Given the description of an element on the screen output the (x, y) to click on. 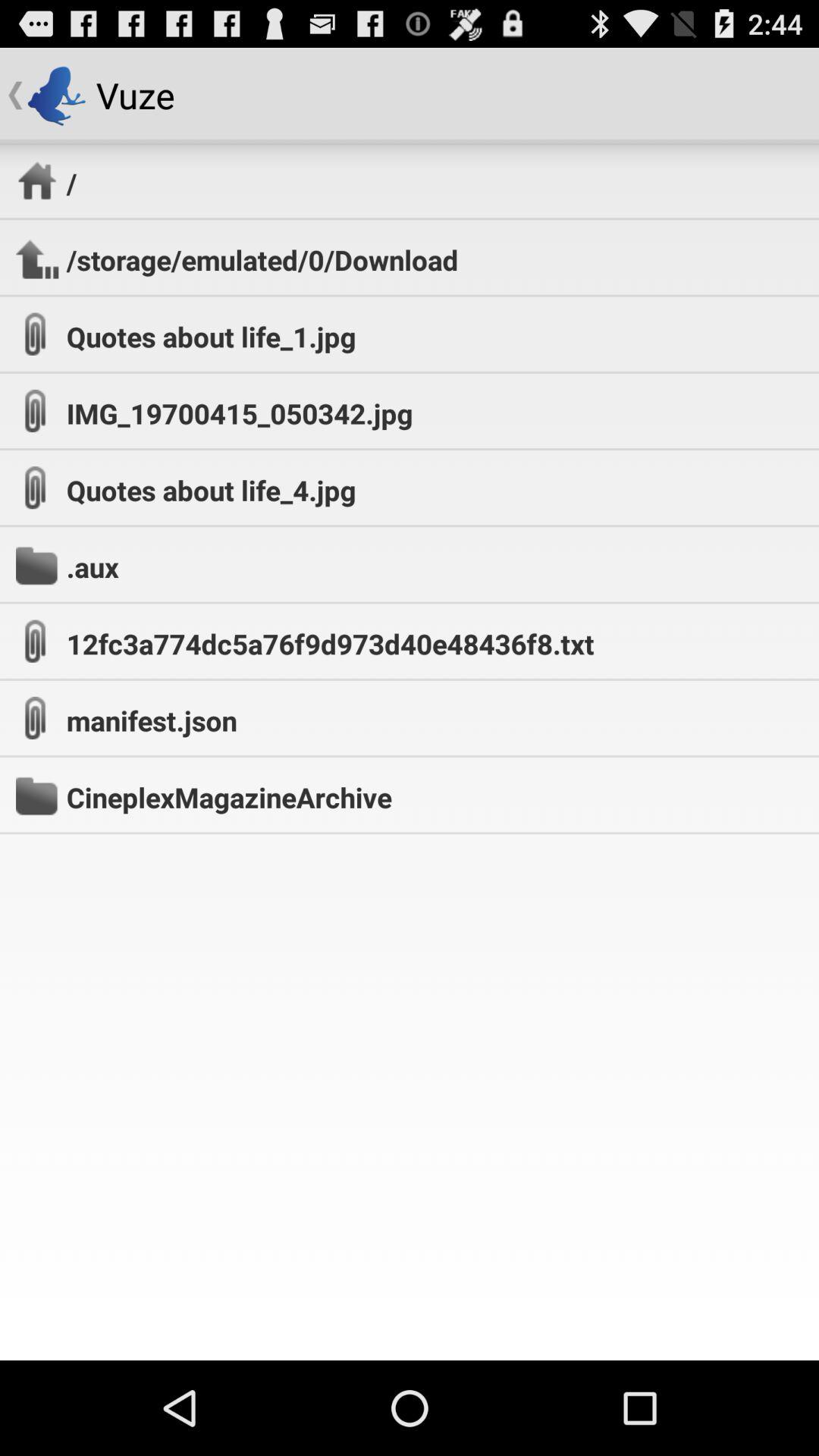
jump until the .aux (92, 566)
